Given the description of an element on the screen output the (x, y) to click on. 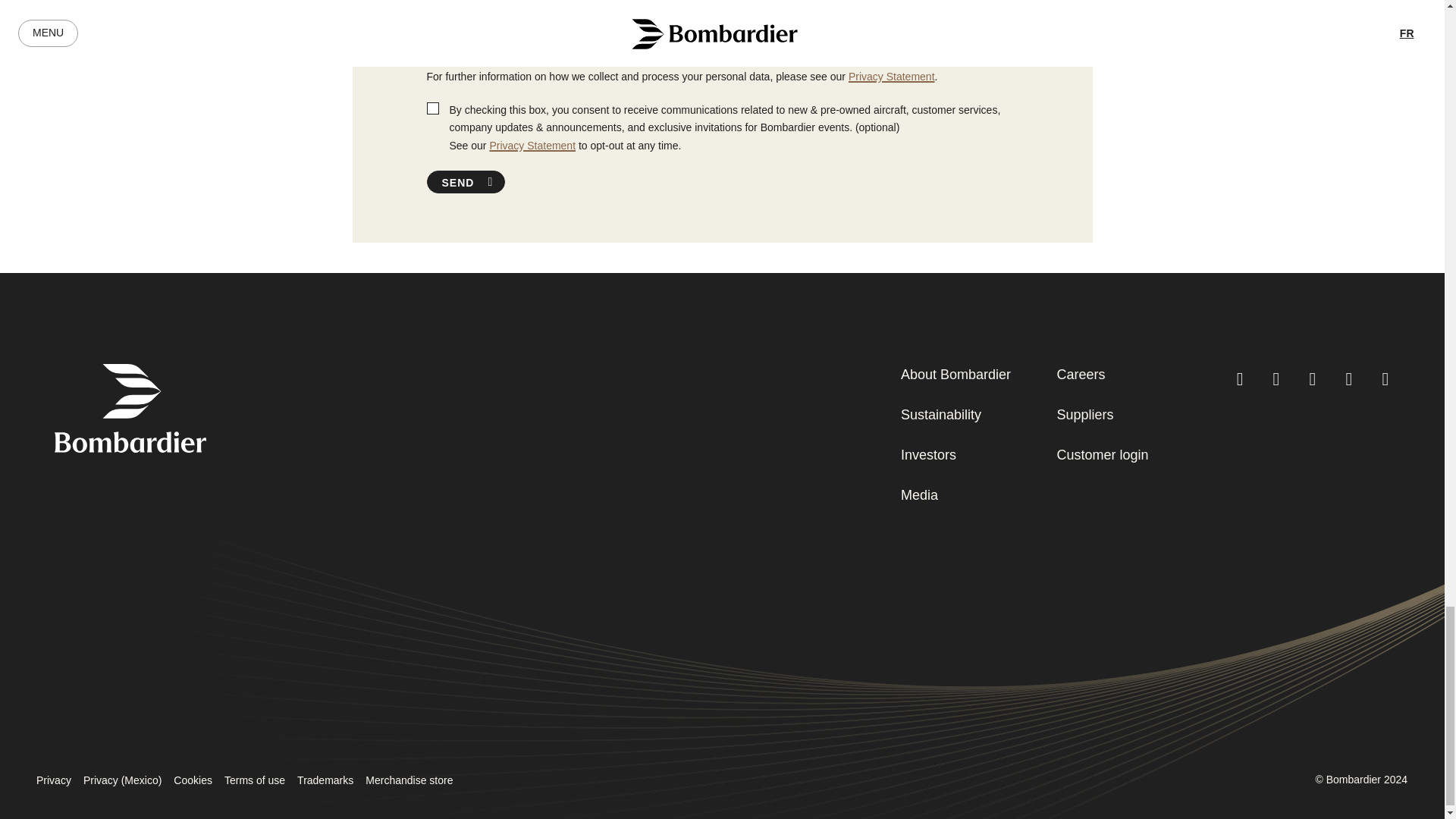
Instagram (1239, 378)
Facebook (1275, 378)
LinkedIn (1348, 378)
Cookies (192, 780)
Twitter (1312, 378)
Youtube (1385, 378)
